Given the description of an element on the screen output the (x, y) to click on. 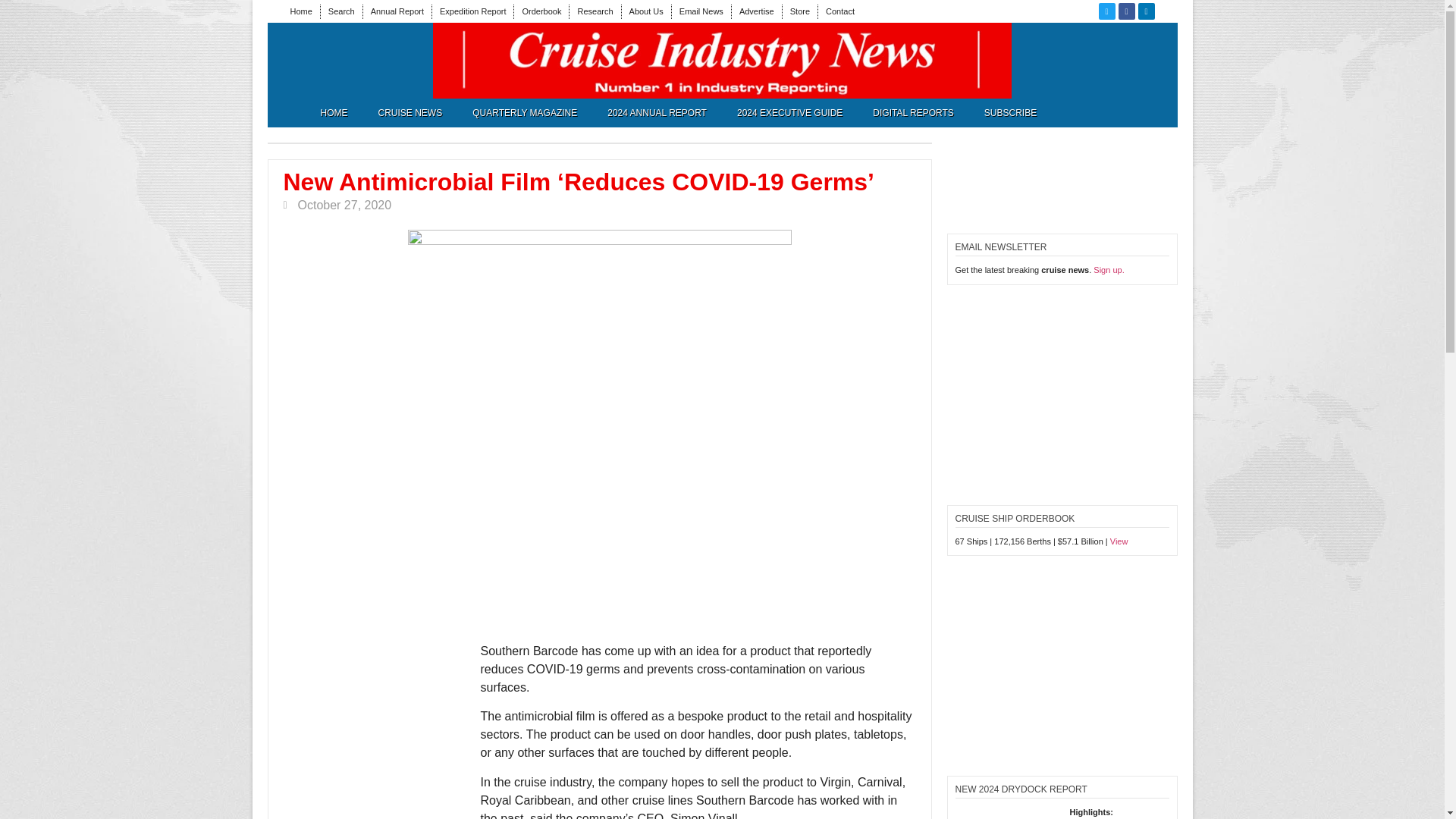
Email News (701, 11)
QUARTERLY MAGAZINE (524, 112)
Expedition Report (472, 11)
Annual Report (397, 11)
Orderbook (540, 11)
Contact (839, 11)
Store (799, 11)
About Us (645, 11)
Advertise (756, 11)
Search (342, 11)
